Given the description of an element on the screen output the (x, y) to click on. 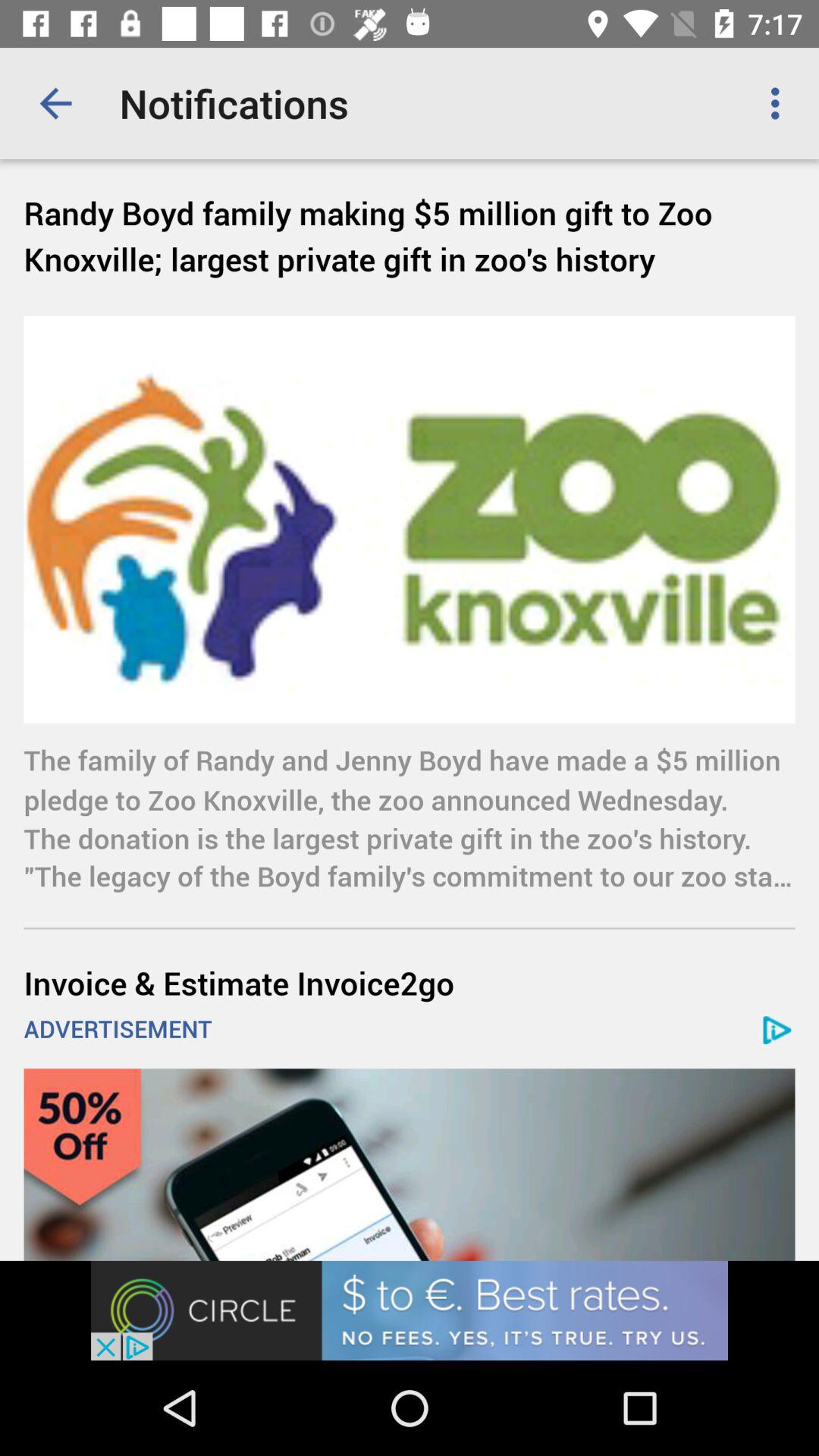
open advertisement (409, 1310)
